Given the description of an element on the screen output the (x, y) to click on. 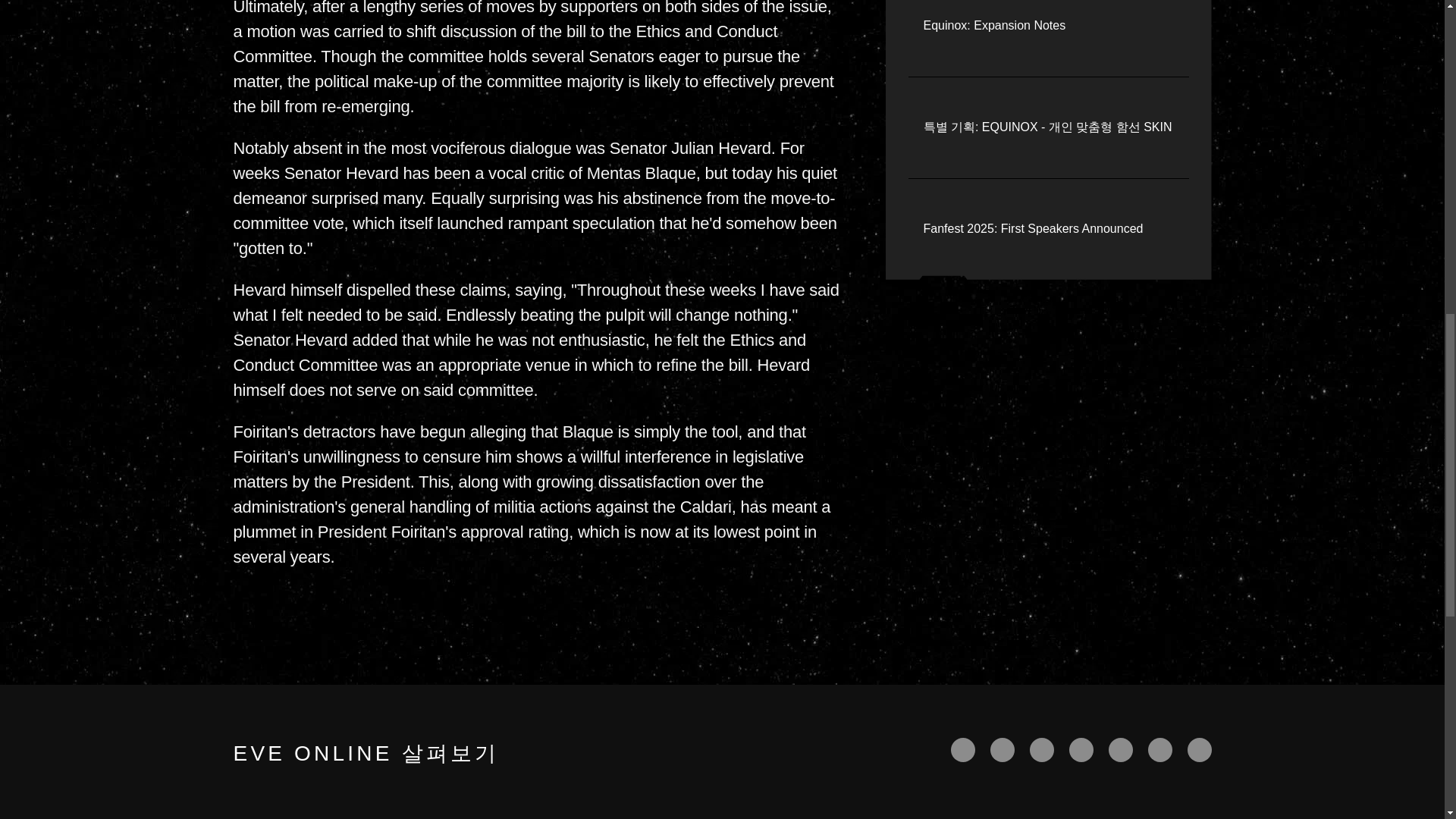
VK (1199, 749)
Equinox: Expansion Notes (994, 25)
YouTube (1041, 749)
Fanfest 2025: First Speakers Announced (1032, 229)
Instagram (1160, 749)
Twitter (1002, 749)
Twitch (1080, 749)
Discord (1120, 749)
Facebook (962, 749)
